Given the description of an element on the screen output the (x, y) to click on. 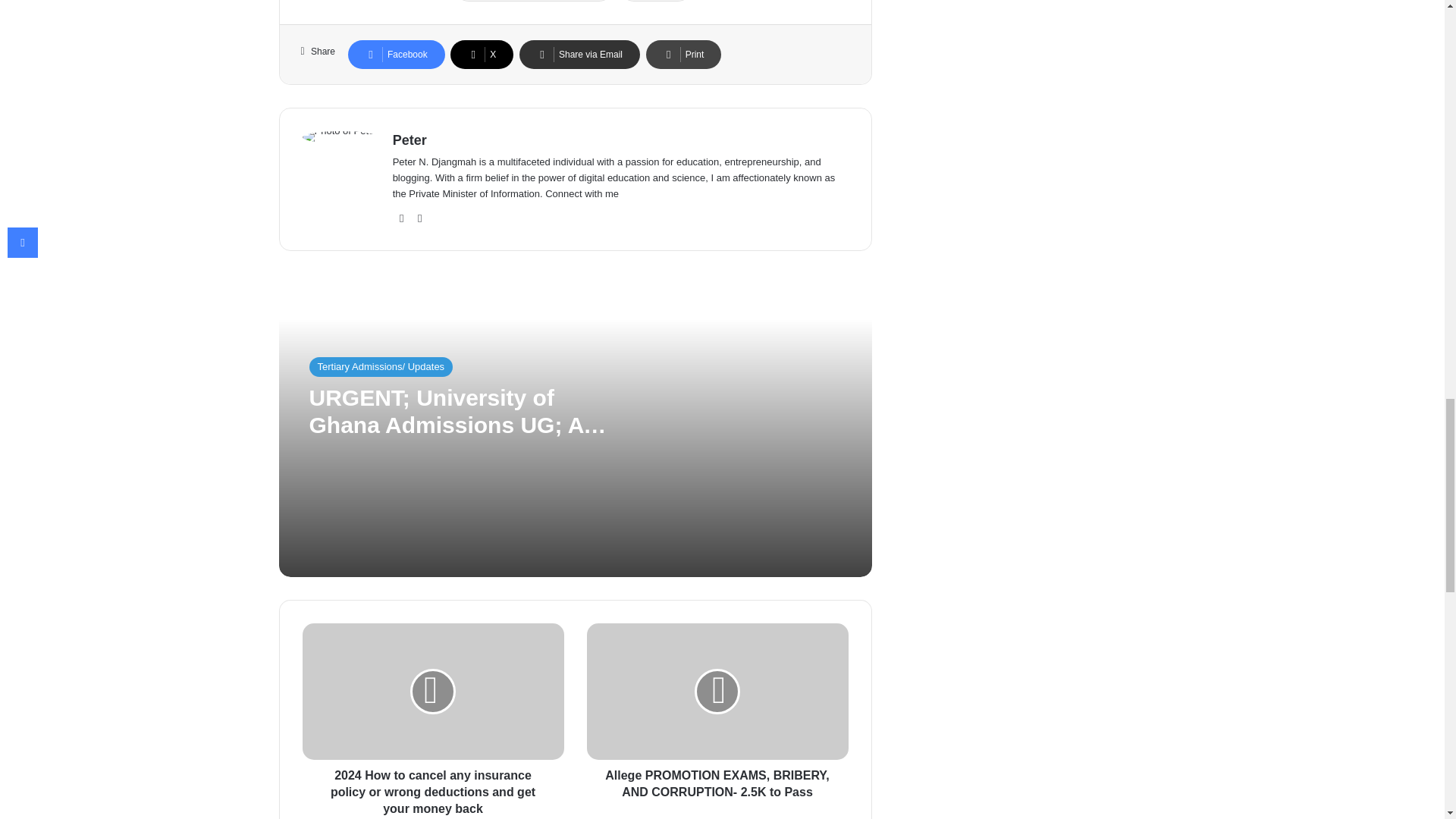
Share via Email (579, 54)
Facebook (396, 54)
X (481, 54)
